Given the description of an element on the screen output the (x, y) to click on. 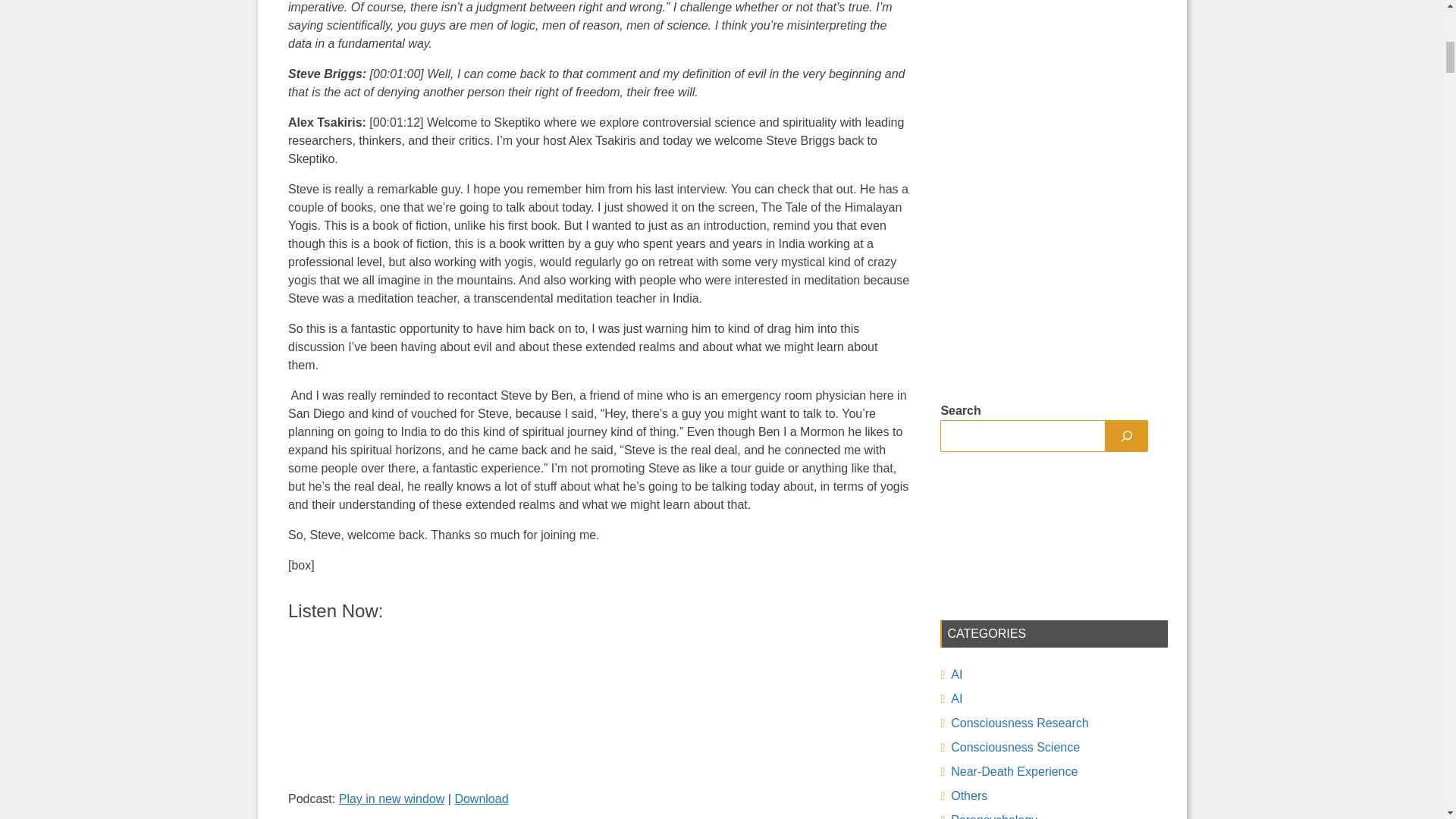
Download (481, 798)
Play in new window (392, 798)
Blubrry Podcast Player (599, 710)
Play in new window (392, 798)
Download (481, 798)
